Given the description of an element on the screen output the (x, y) to click on. 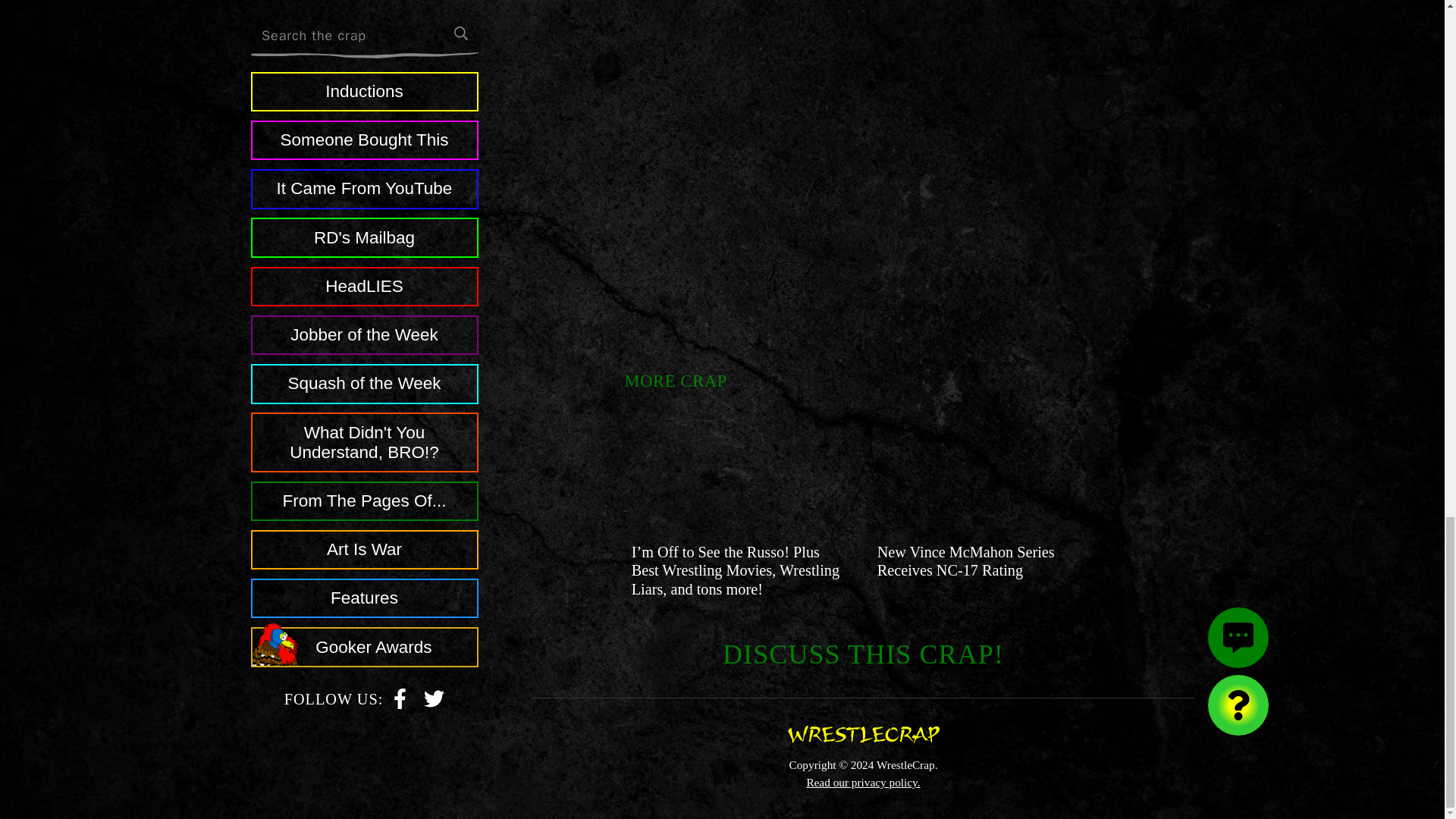
New Vince McMahon Series Receives NC-17 Rating (965, 560)
Read our privacy policy. (863, 781)
